Given the description of an element on the screen output the (x, y) to click on. 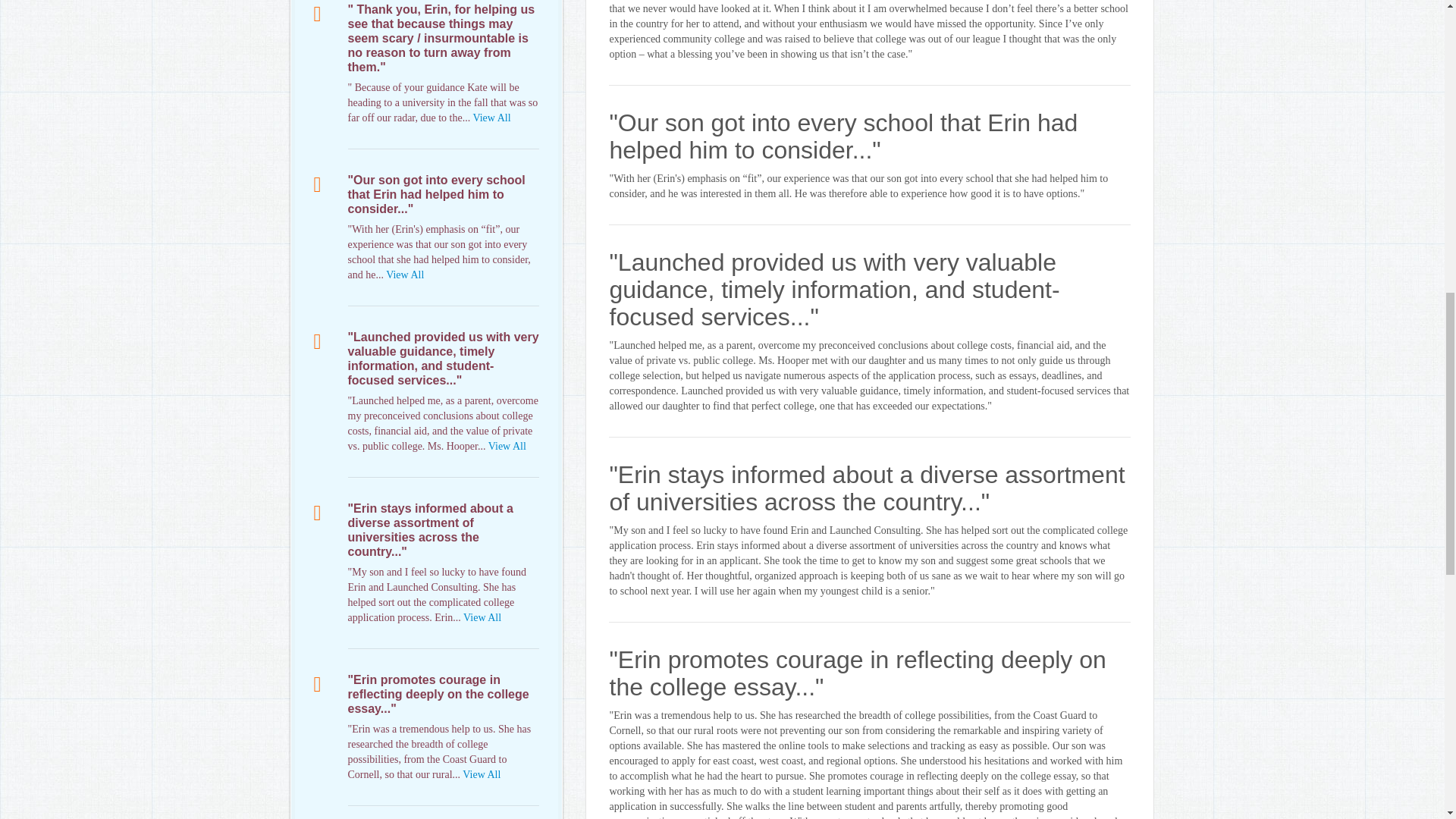
View All (404, 274)
View All (491, 117)
View All (506, 446)
View All (481, 617)
View All (481, 774)
